Given the description of an element on the screen output the (x, y) to click on. 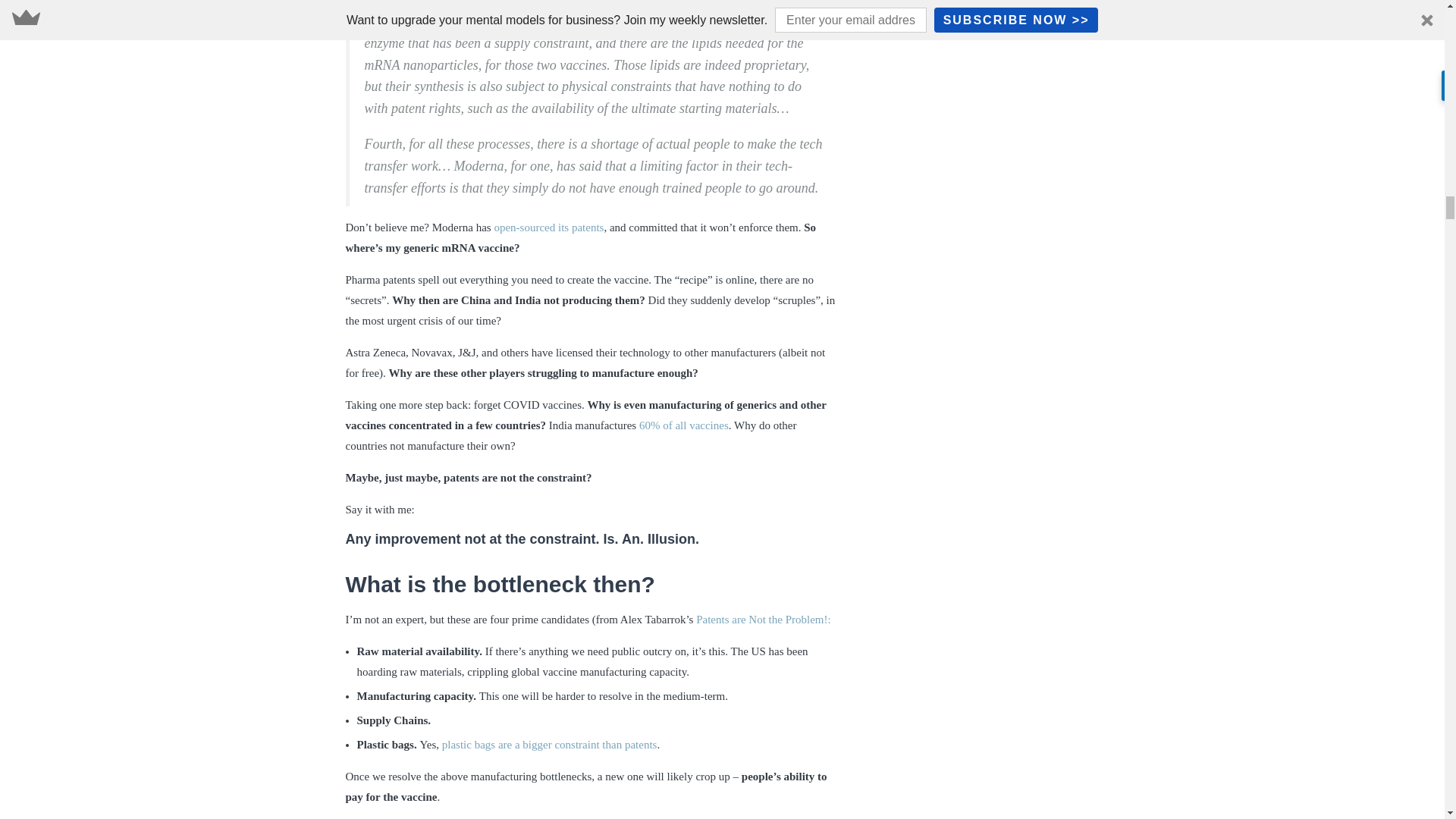
plastic bags are a bigger constraint than patents (550, 744)
open-sourced its patents (548, 227)
Patents are Not the Problem!: (762, 619)
